Given the description of an element on the screen output the (x, y) to click on. 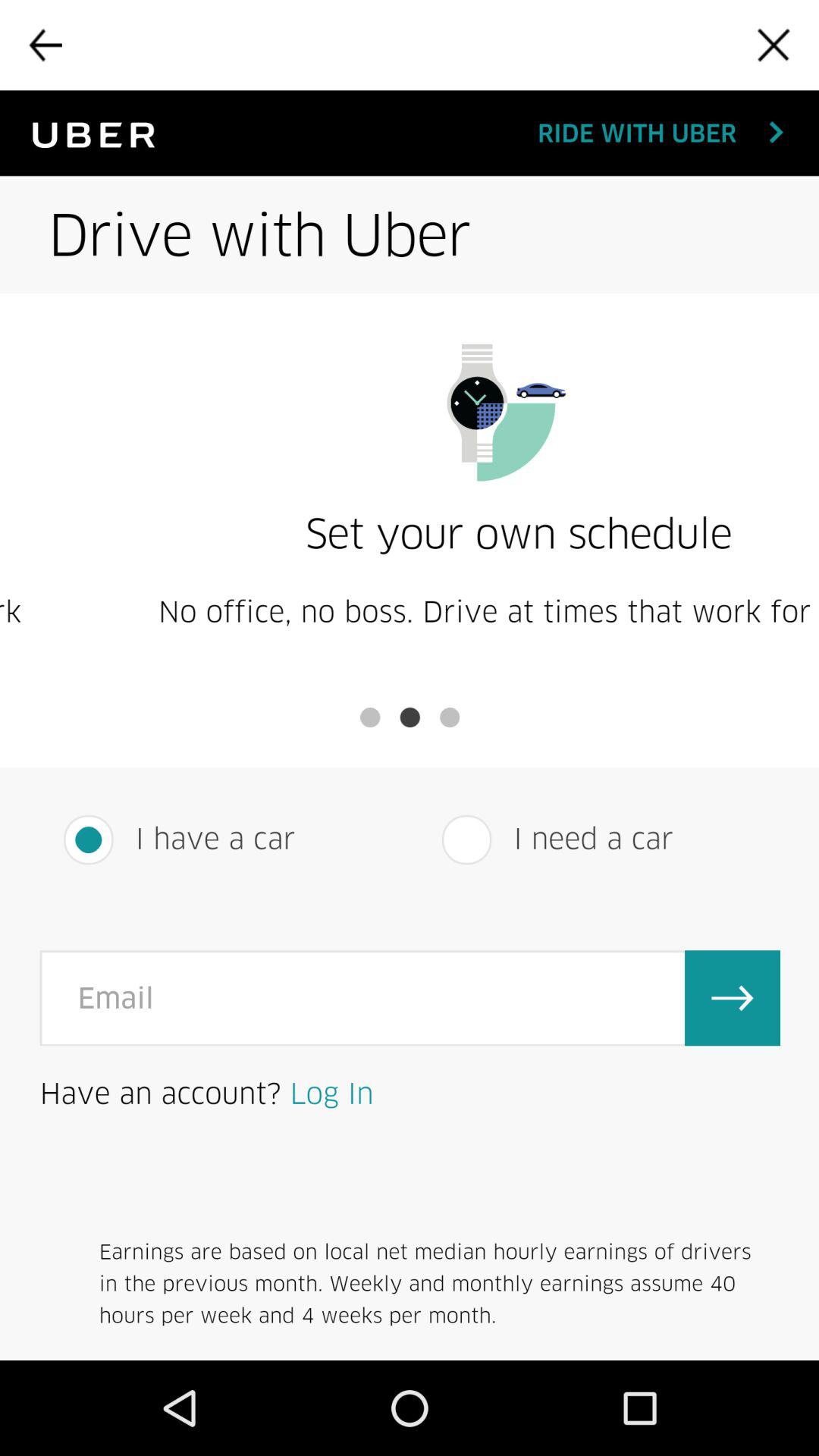
back button (45, 45)
